Given the description of an element on the screen output the (x, y) to click on. 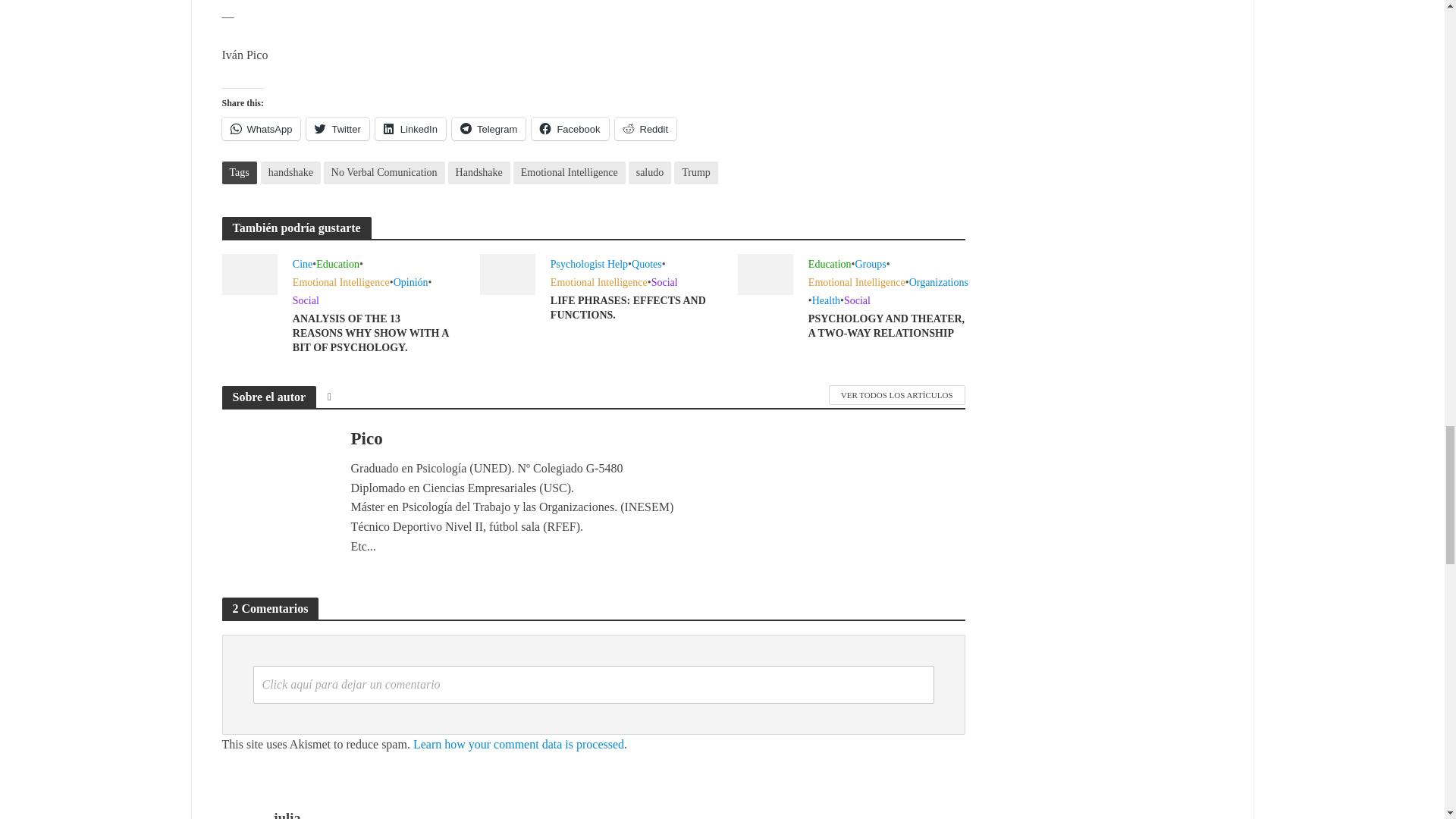
Click to share on WhatsApp (260, 128)
Click to share on Twitter (336, 128)
Click to share on LinkedIn (410, 128)
